Given the description of an element on the screen output the (x, y) to click on. 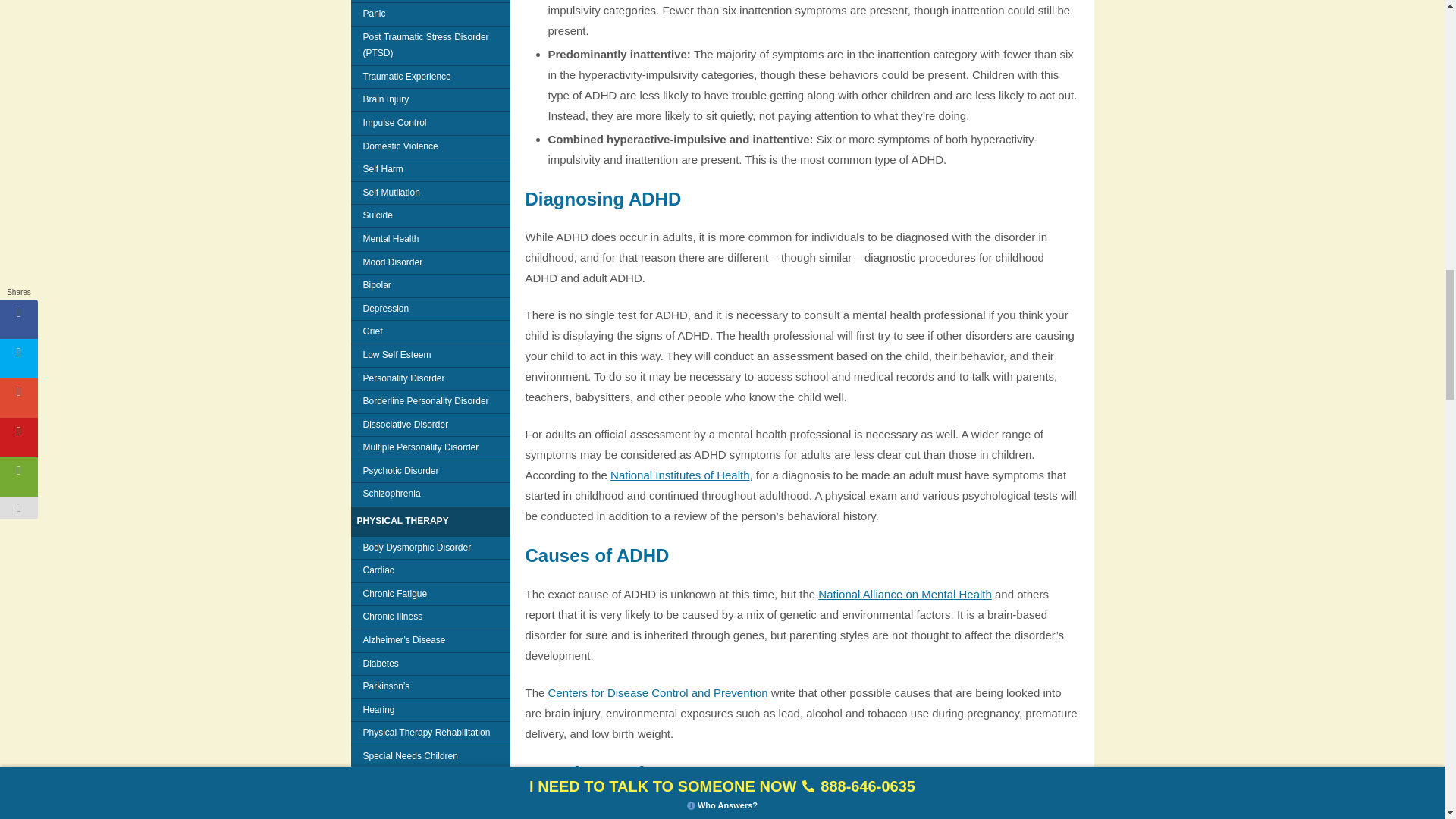
Facts About ADHD (658, 692)
About ADHD: Symptoms, Causes and Diagnosis (904, 594)
Diagnosis (679, 474)
